Given the description of an element on the screen output the (x, y) to click on. 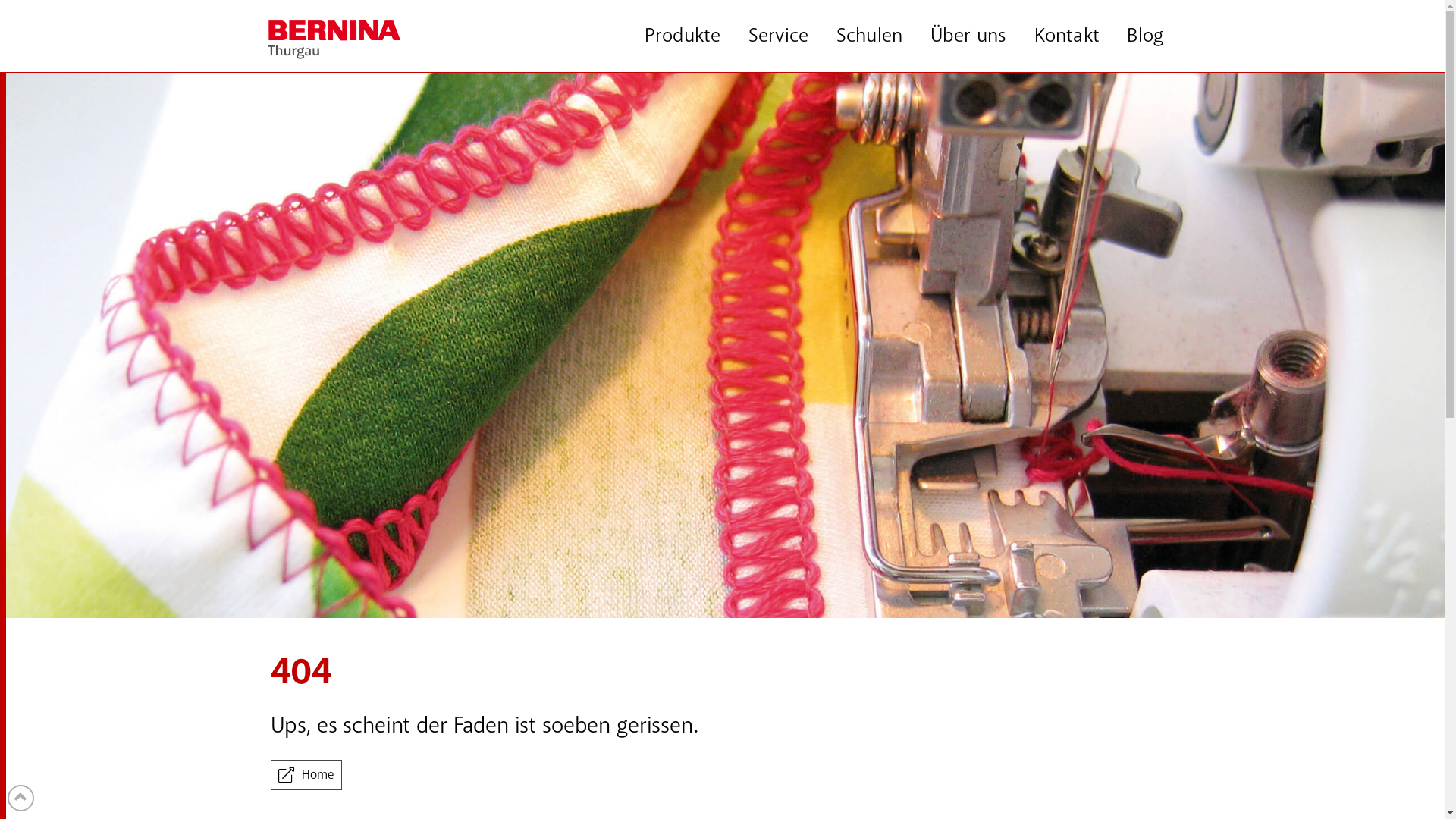
Blog Element type: text (1144, 36)
Kontakt Element type: text (1066, 36)
Service Element type: text (778, 36)
Back to Top Element type: hover (20, 797)
Home Element type: text (305, 774)
Produkte Element type: text (682, 36)
Schulen Element type: text (869, 36)
